Given the description of an element on the screen output the (x, y) to click on. 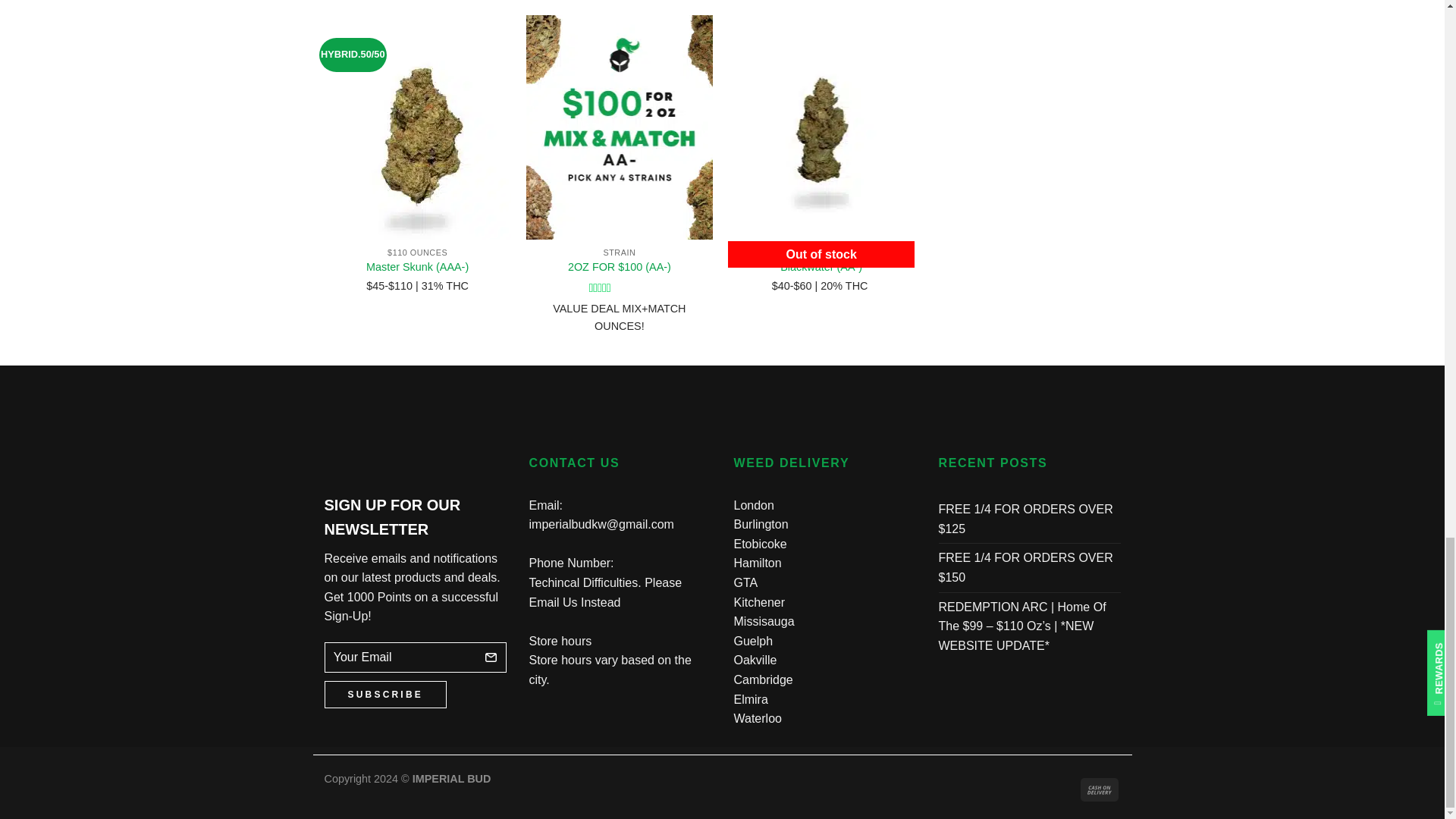
Subscribe (385, 694)
